Given the description of an element on the screen output the (x, y) to click on. 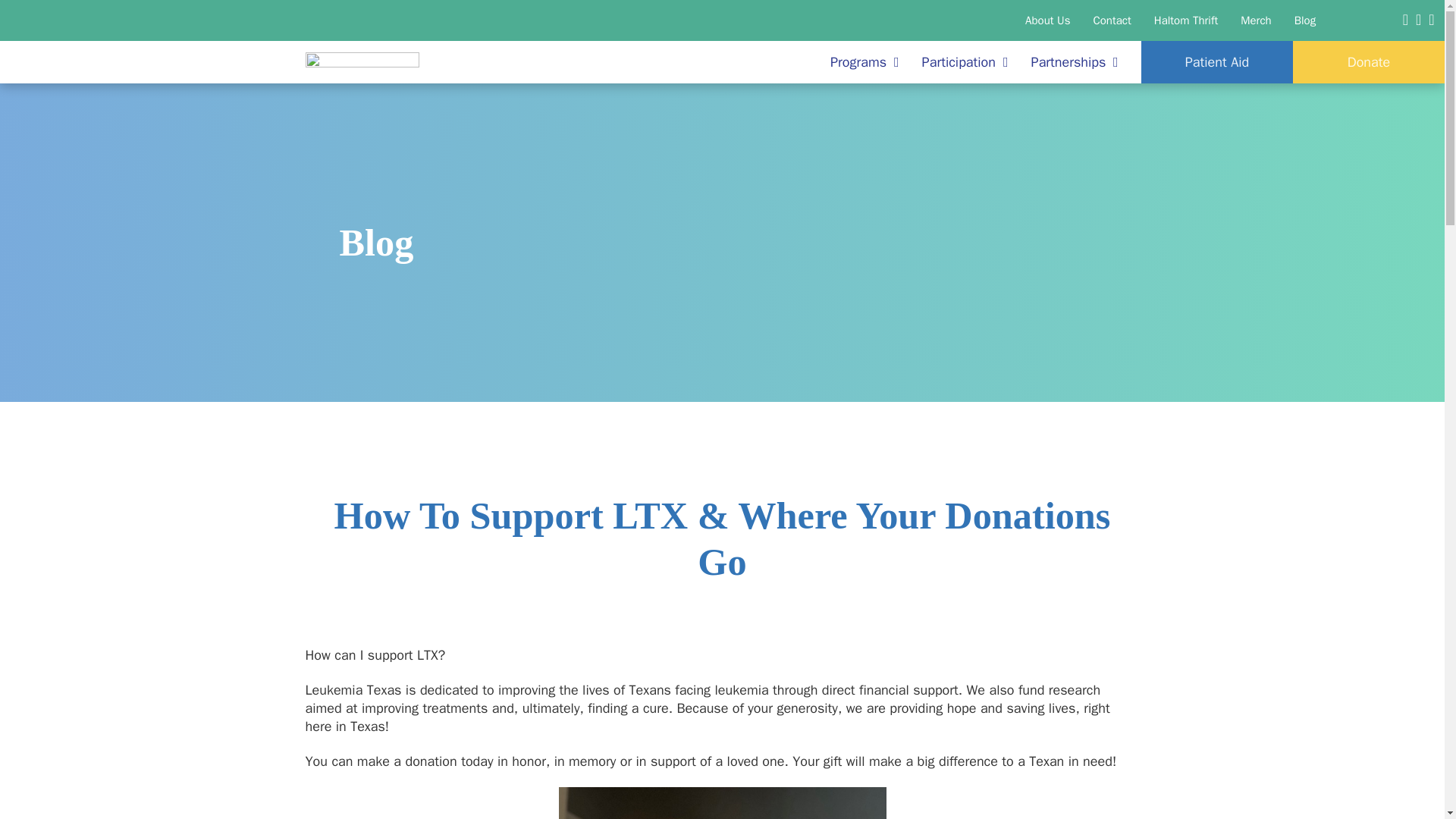
Merch (1255, 20)
Contact (1112, 20)
Haltom Thrift (1185, 20)
Blog (1305, 20)
About Us (1047, 20)
